Given the description of an element on the screen output the (x, y) to click on. 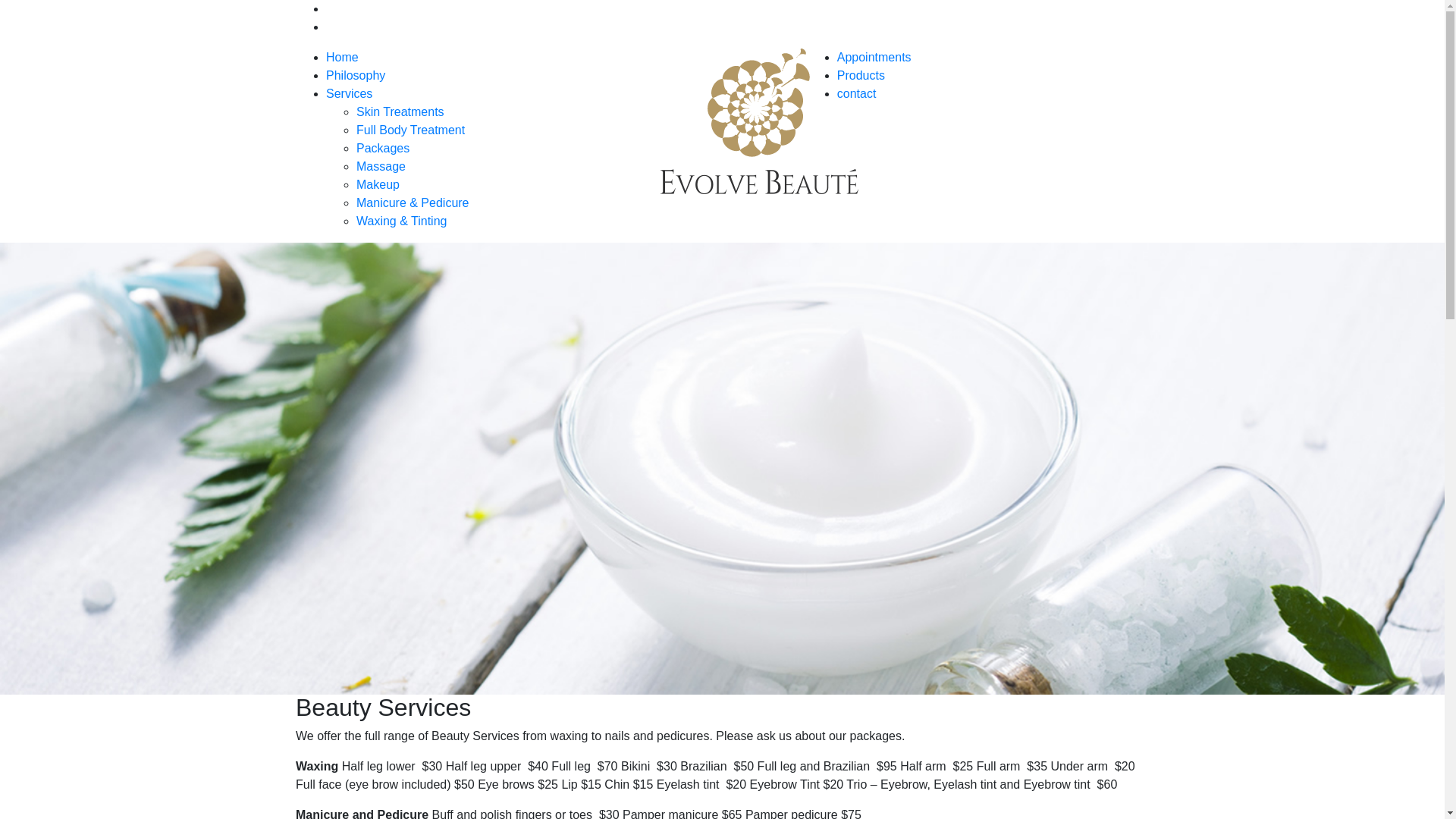
Services Element type: text (349, 93)
Products Element type: text (860, 75)
Skin Treatments Element type: text (400, 111)
Packages Element type: text (382, 147)
Waxing & Tinting Element type: text (401, 220)
Makeup Element type: text (377, 184)
Massage Element type: text (380, 166)
Home Element type: text (342, 56)
Full Body Treatment Element type: text (410, 129)
Philosophy Element type: text (355, 75)
contact Element type: text (856, 93)
Manicure & Pedicure Element type: text (412, 202)
Appointments Element type: text (874, 56)
